Given the description of an element on the screen output the (x, y) to click on. 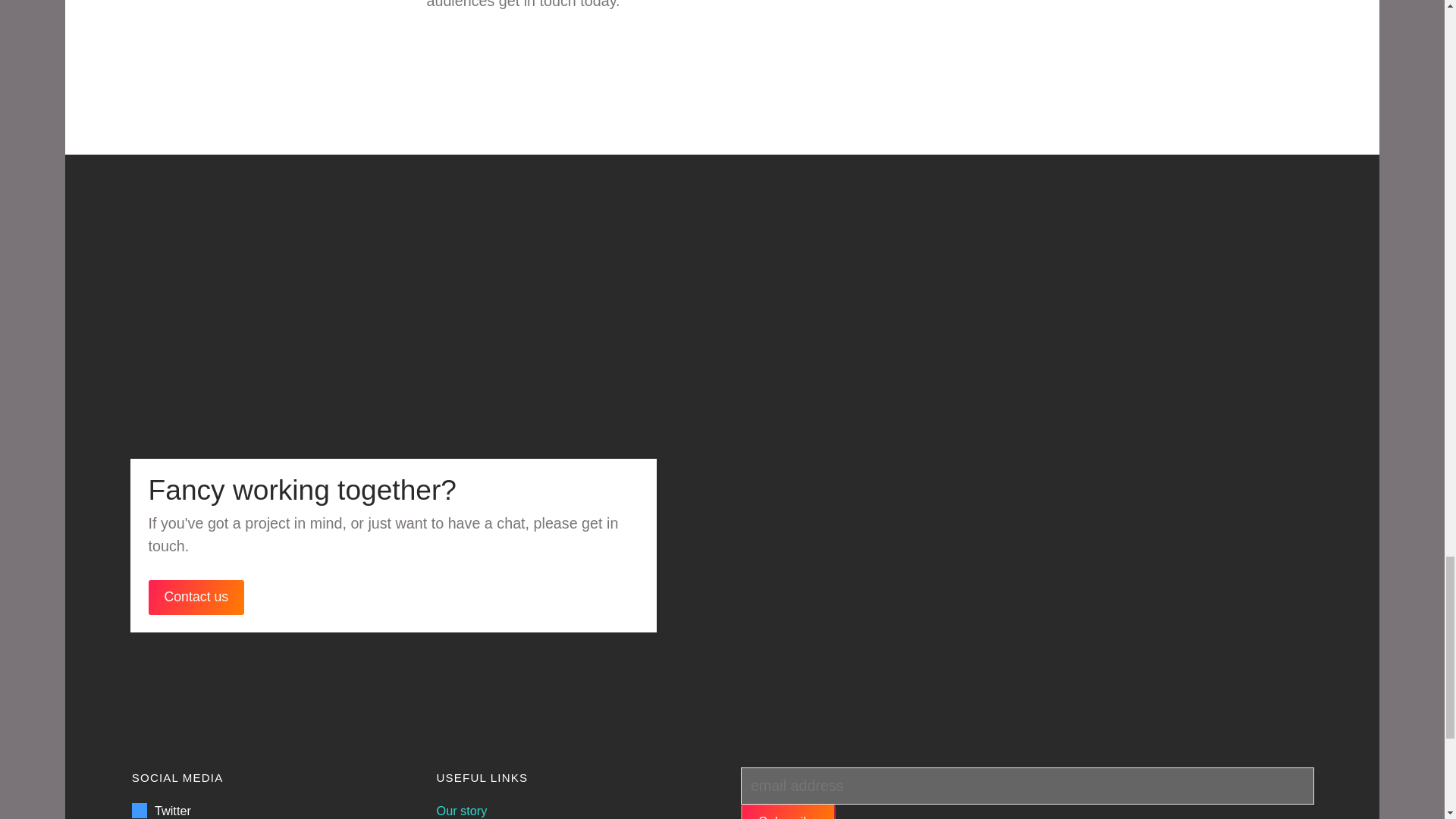
Our story (461, 810)
Subscribe (788, 811)
Subscribe (788, 811)
 Twitter (161, 810)
Contact us (196, 597)
